Given the description of an element on the screen output the (x, y) to click on. 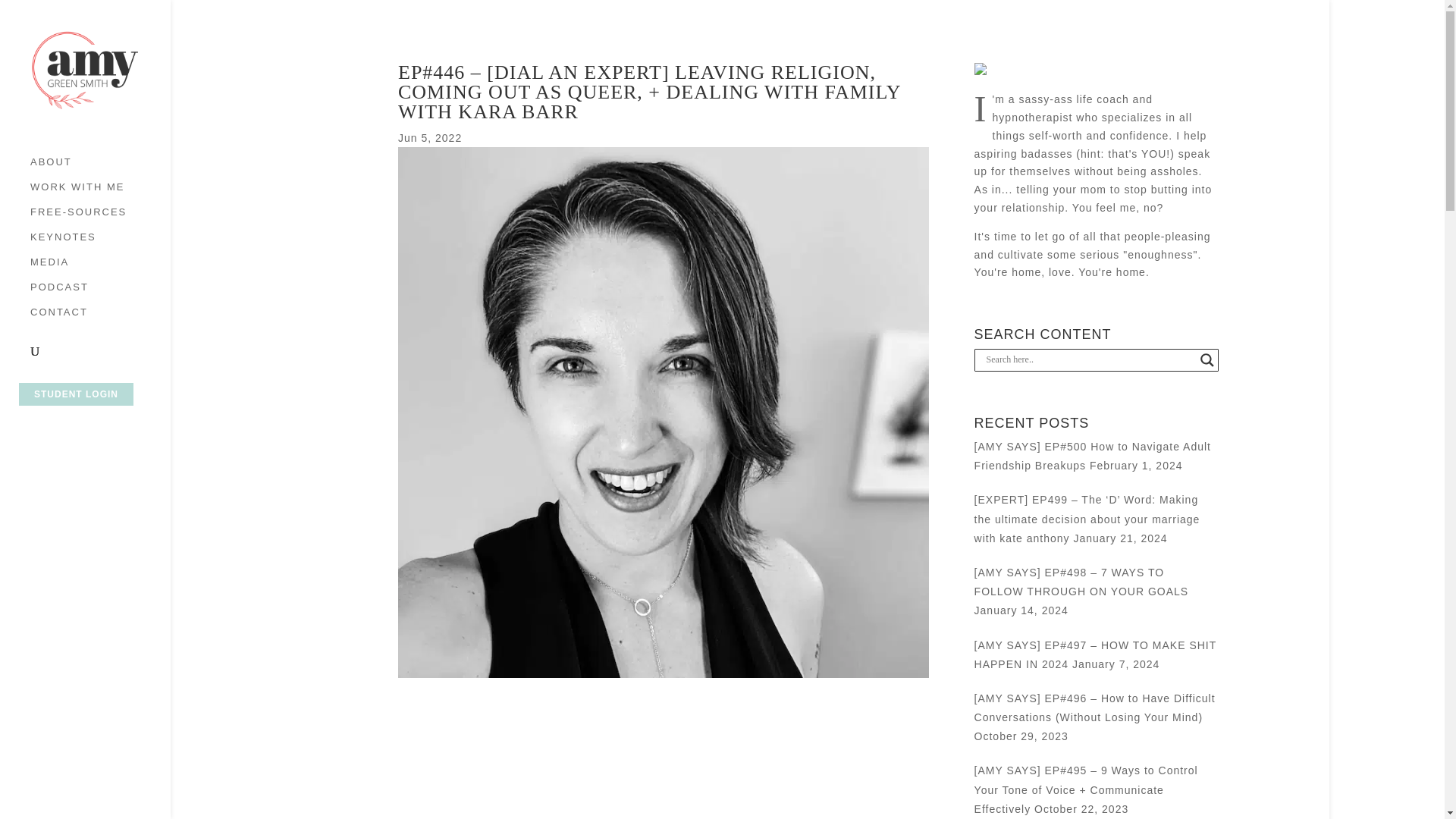
CONTACT (100, 319)
FREE-SOURCES (100, 219)
Embed Player (662, 749)
STUDENT LOGIN (75, 394)
Kara for post (662, 674)
WORK WITH ME (100, 194)
ABOUT (100, 169)
PODCAST (100, 294)
MEDIA (100, 269)
KEYNOTES (100, 244)
